Given the description of an element on the screen output the (x, y) to click on. 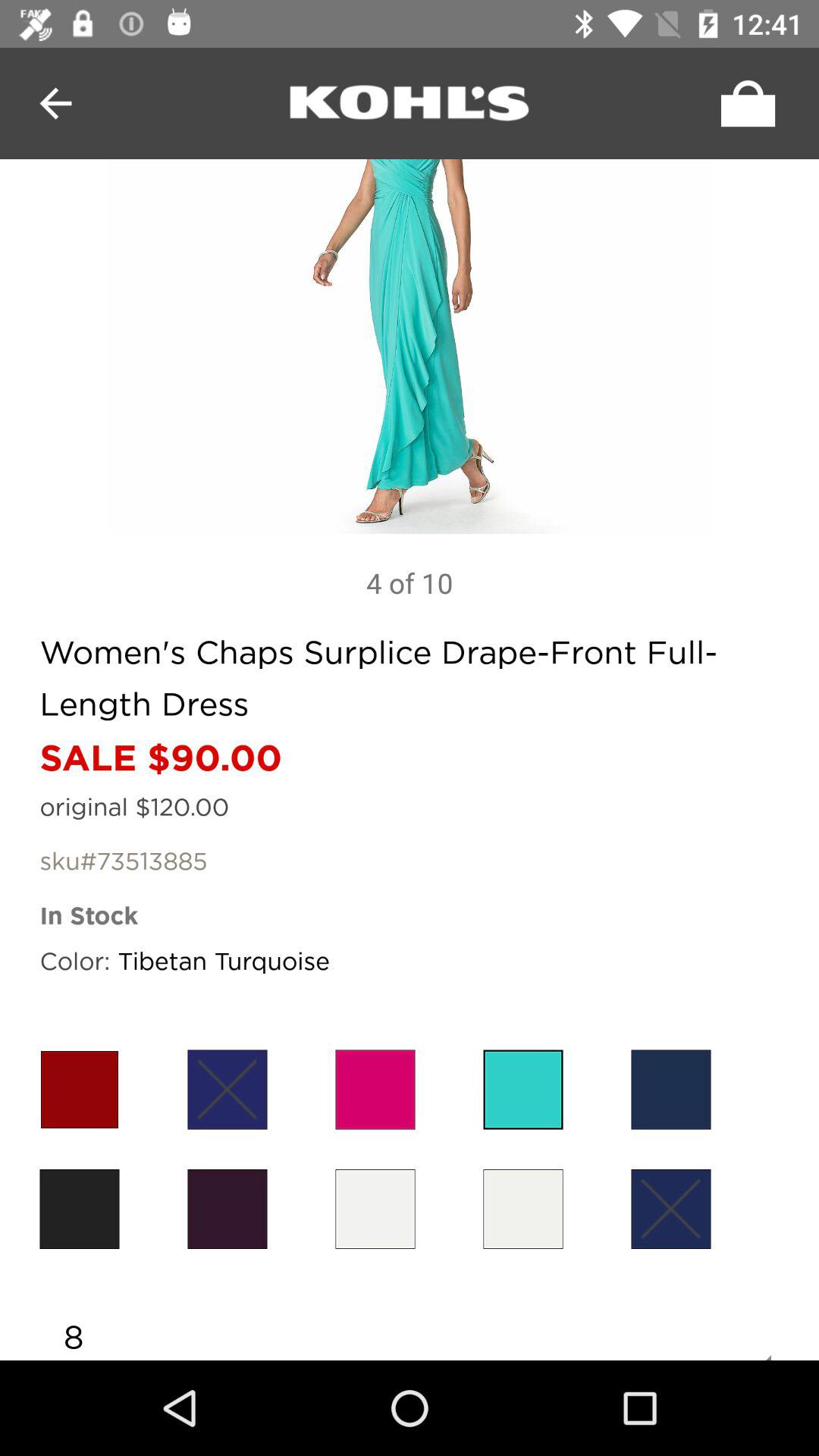
open the icon below  tibetan turquoise (375, 1089)
